Given the description of an element on the screen output the (x, y) to click on. 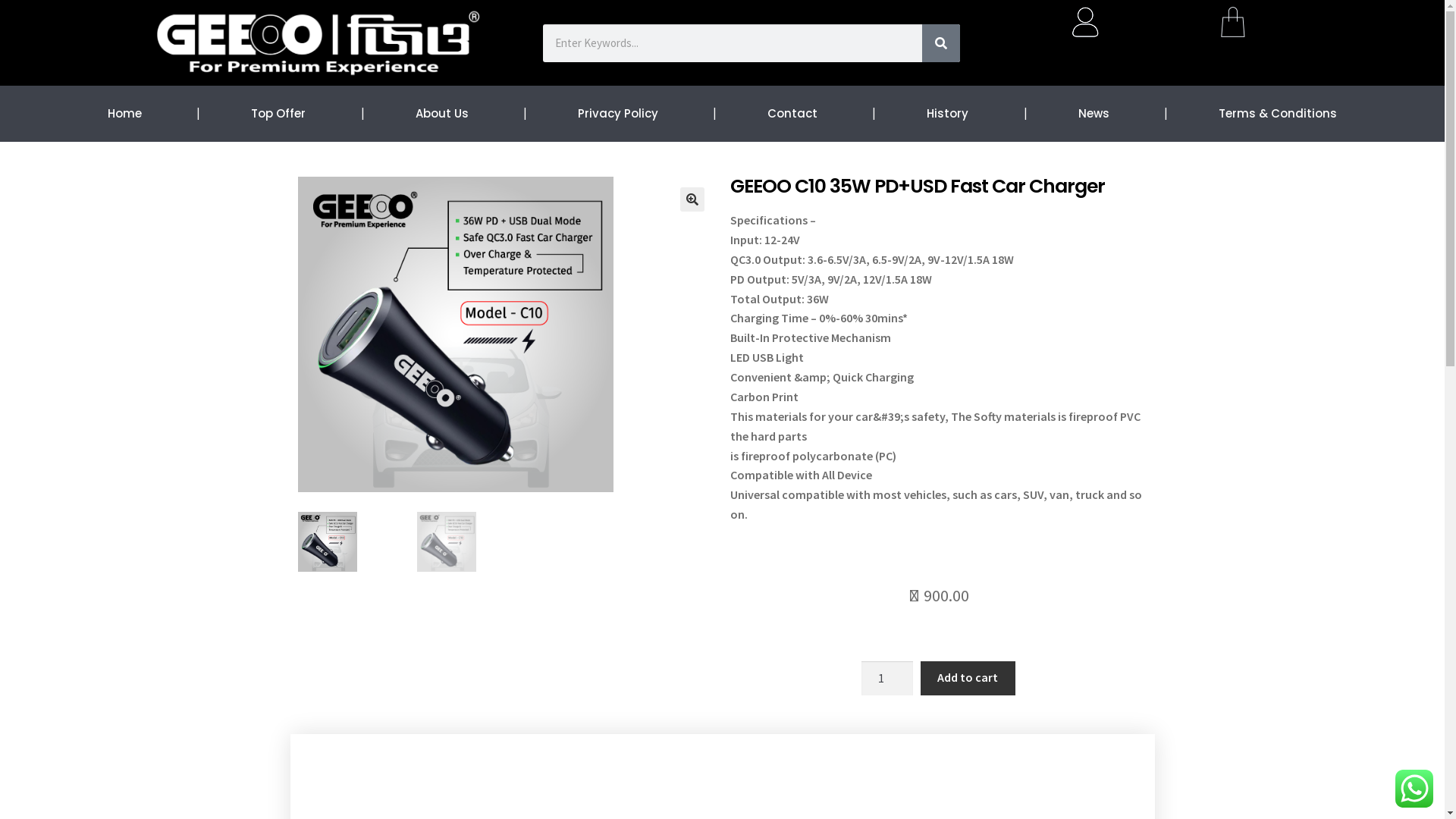
News Element type: text (1093, 113)
Contact Element type: text (792, 113)
Terms & Conditions Element type: text (1277, 113)
500-x-500-PNG Element type: hover (454, 334)
cart Element type: hover (1232, 21)
Top Offer Element type: text (278, 113)
login Element type: hover (1085, 21)
Add to cart Element type: text (967, 678)
Home Element type: text (124, 113)
History Element type: text (947, 113)
Privacy Policy Element type: text (617, 113)
About Us Element type: text (441, 113)
